Given the description of an element on the screen output the (x, y) to click on. 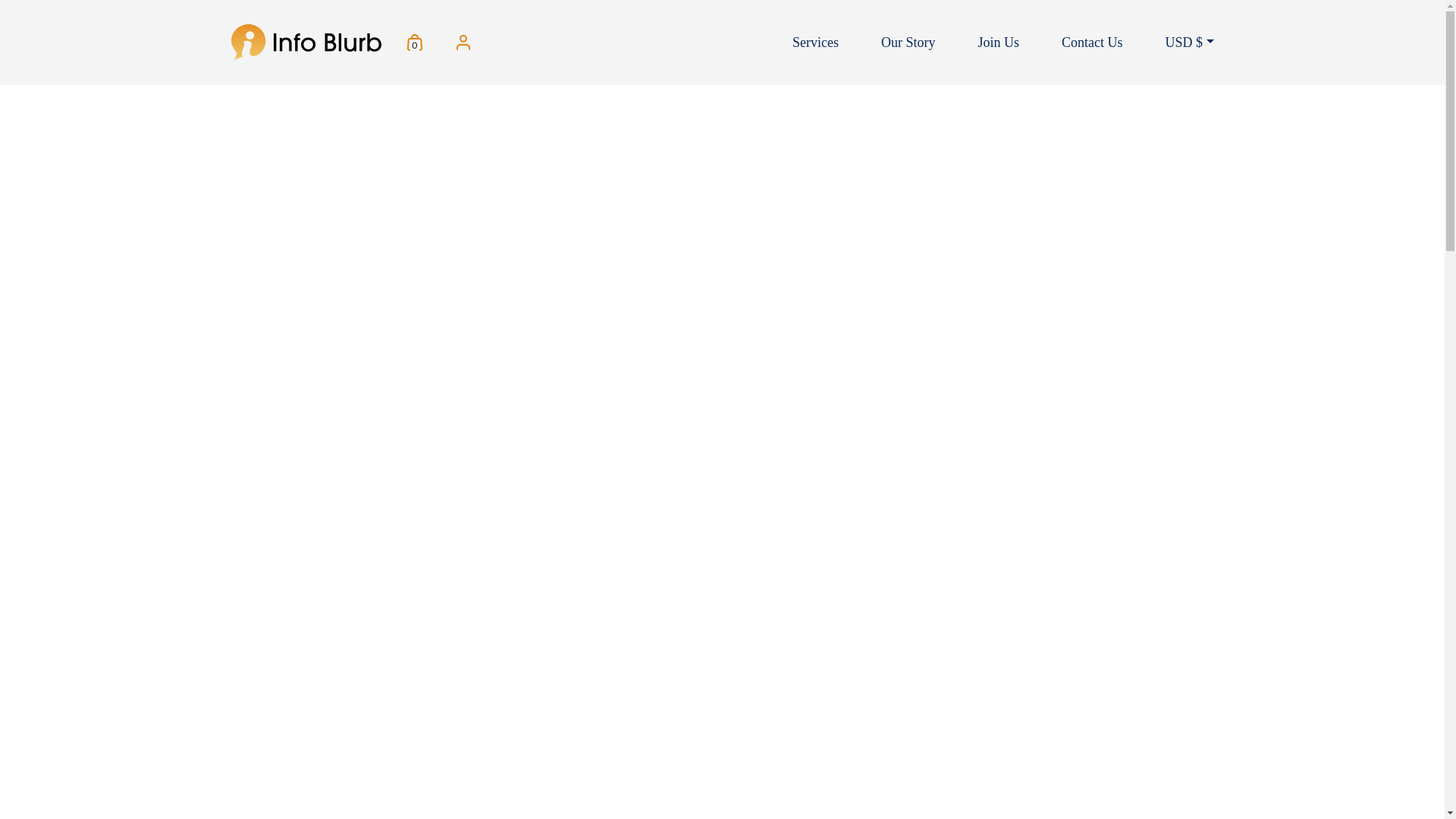
Services (815, 42)
Join Us (997, 42)
0 (419, 42)
Our Story (908, 42)
Contact Us (1091, 42)
